Given the description of an element on the screen output the (x, y) to click on. 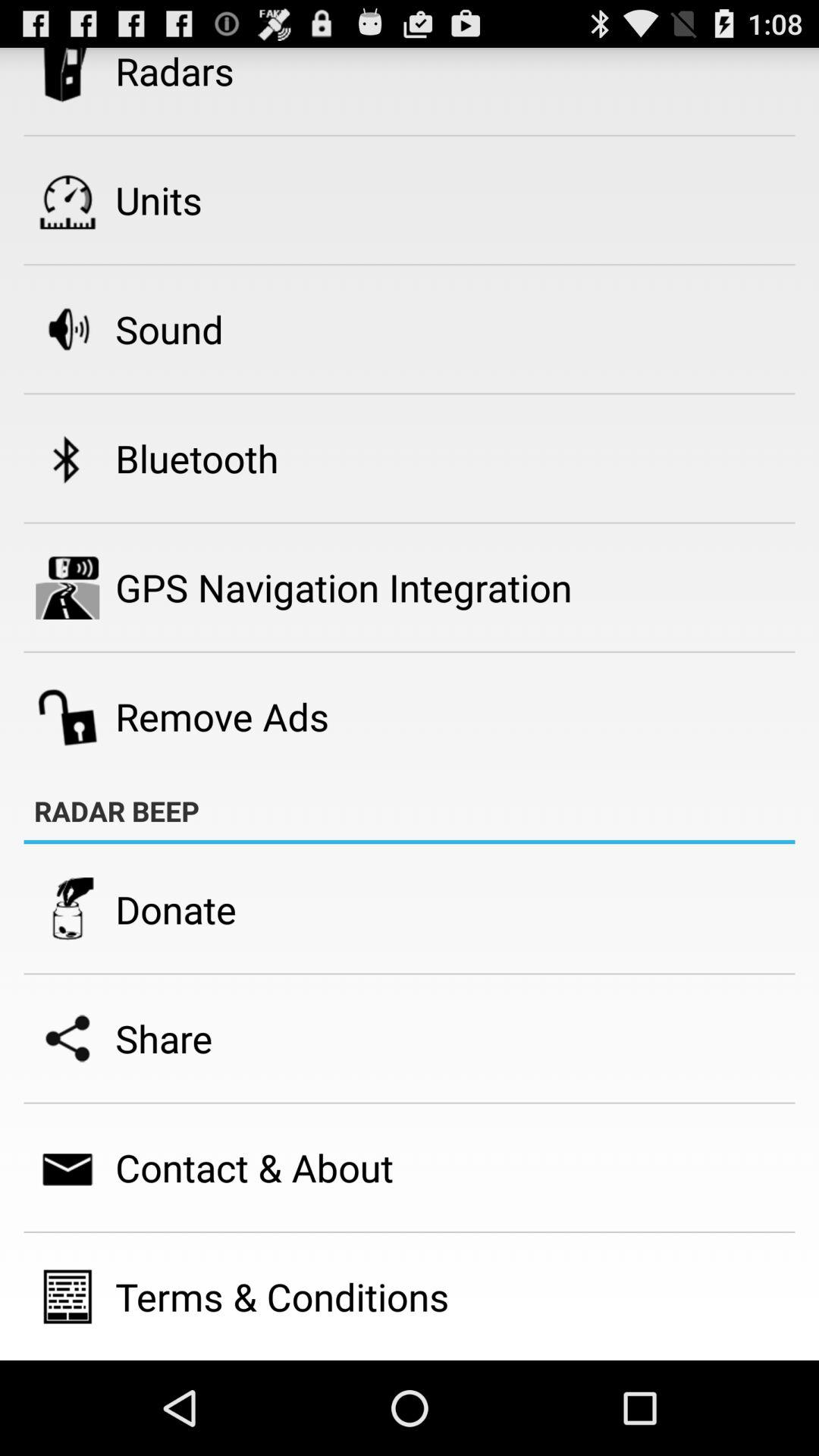
scroll until the radars (174, 71)
